Given the description of an element on the screen output the (x, y) to click on. 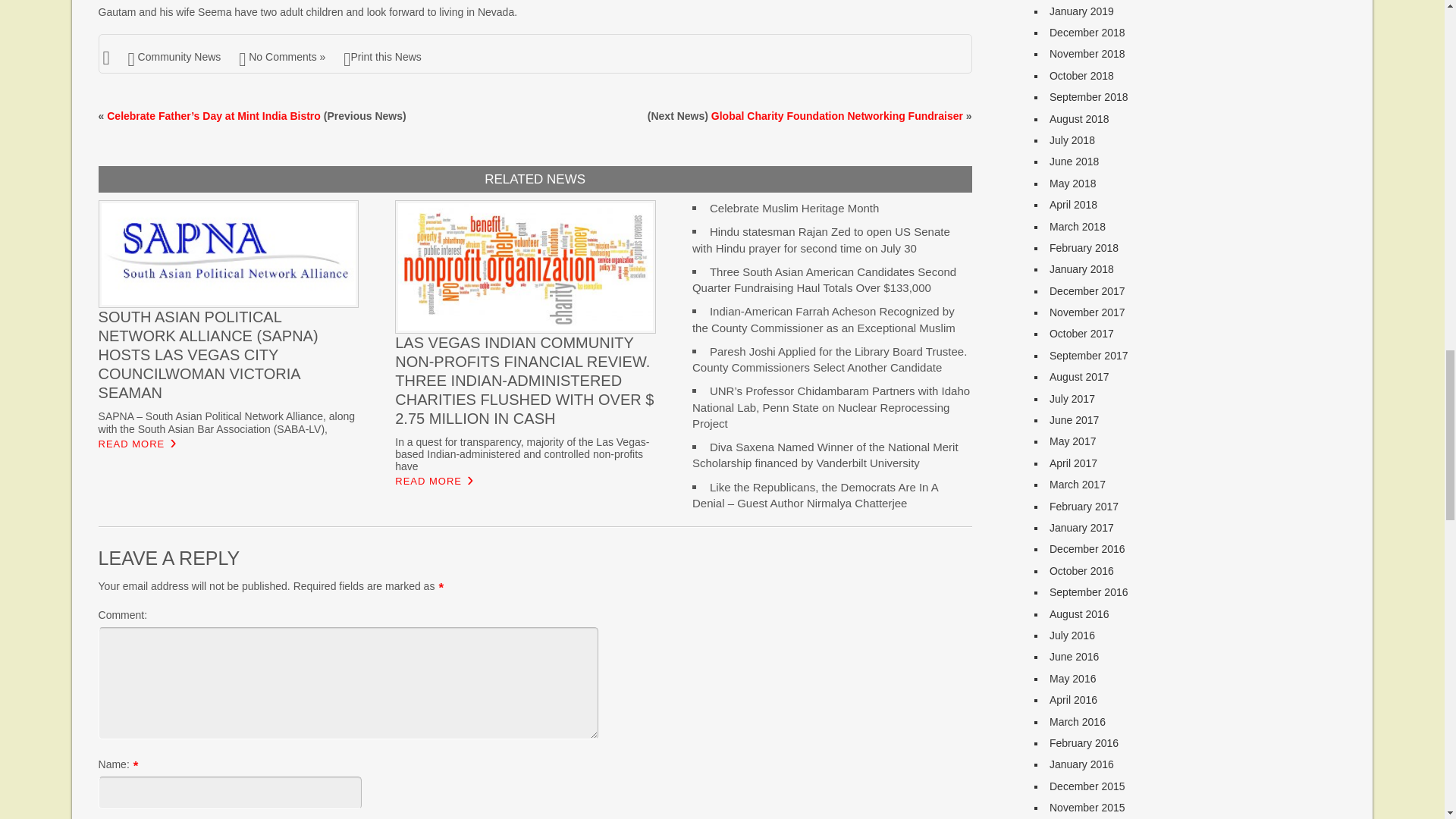
Permanent Link to Celebrate Muslim Heritage Month (794, 207)
Print this News (382, 56)
Community News (179, 56)
READ MORE (132, 444)
READ MORE (427, 481)
Celebrate Muslim Heritage Month (794, 207)
